Given the description of an element on the screen output the (x, y) to click on. 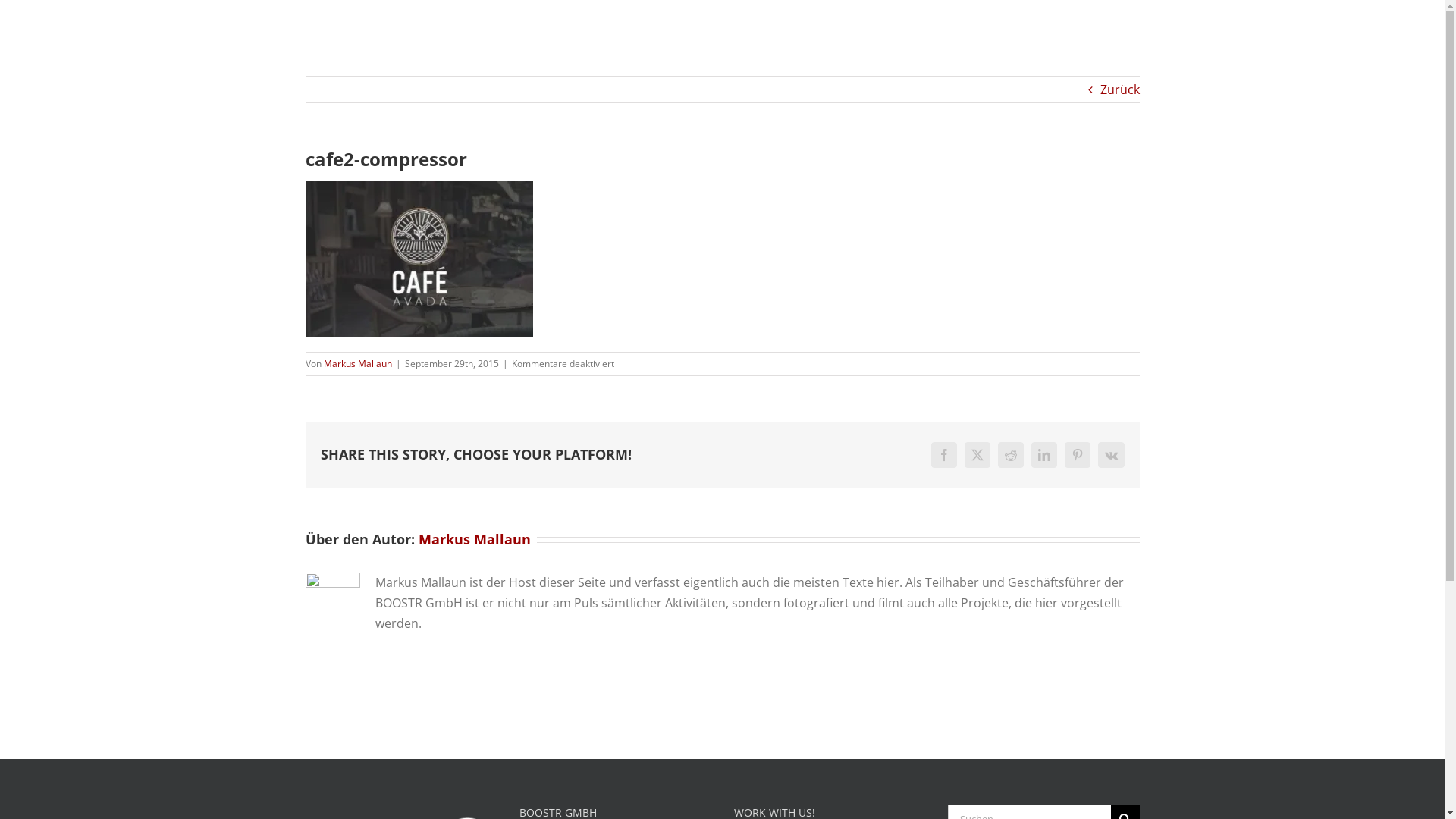
Markus Mallaun Element type: text (474, 539)
Twitter Element type: text (977, 454)
HOME Element type: text (962, 45)
SHOWCASES Element type: text (1099, 45)
Reddit Element type: text (1010, 454)
Vk Element type: text (1111, 454)
ABOUT Element type: text (1020, 45)
FOTOGRAFIE Element type: text (1196, 45)
Pinterest Element type: text (1077, 454)
FILM Element type: text (1269, 45)
Facebook Element type: text (944, 454)
Markus Mallaun Element type: text (357, 363)
KONTAKT Element type: text (1330, 45)
LinkedIn Element type: text (1044, 454)
Suche Element type: hover (1383, 45)
